Given the description of an element on the screen output the (x, y) to click on. 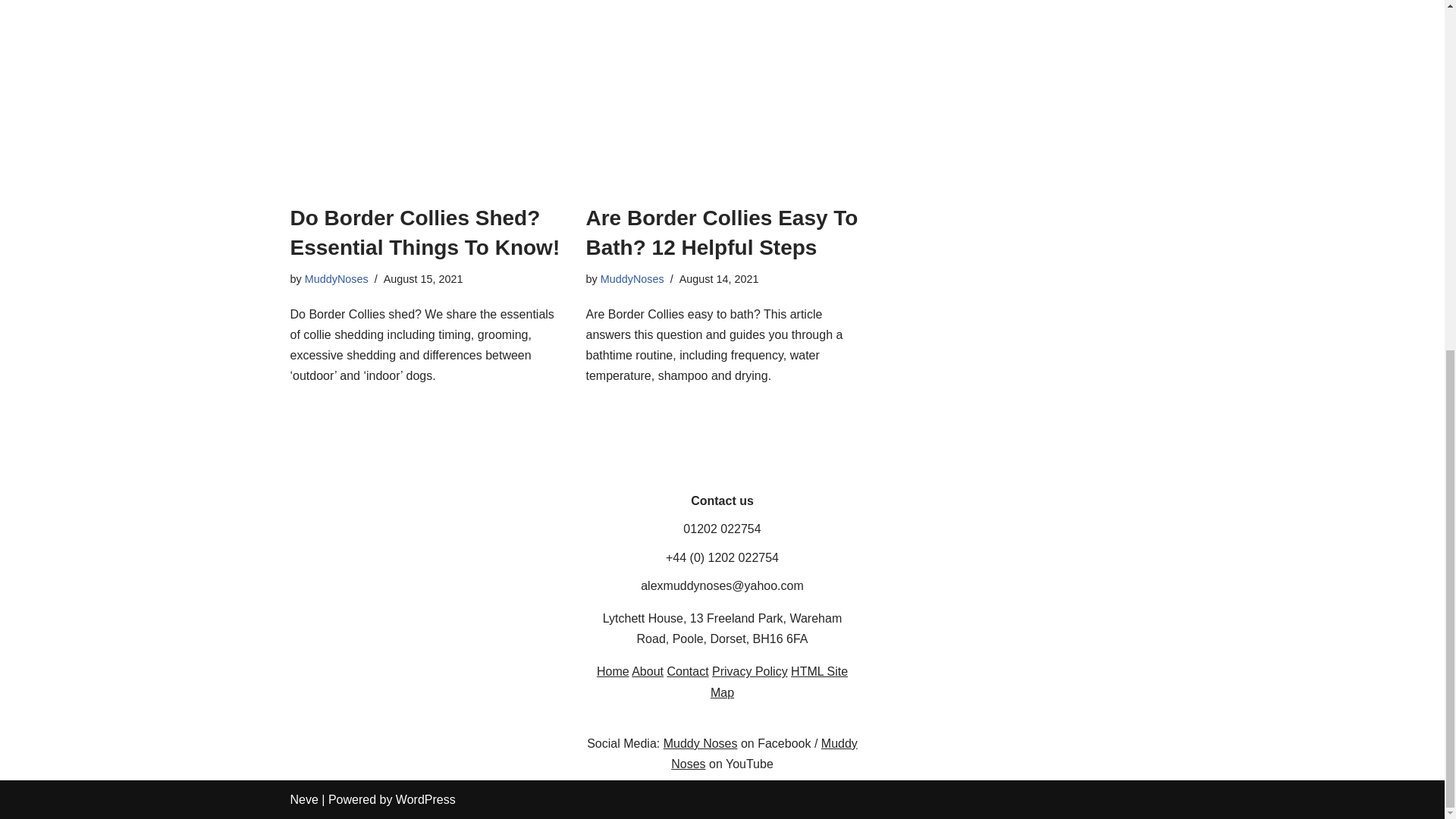
Do Border Collies Shed? Essential Things To Know! (425, 106)
Posts by MuddyNoses (336, 278)
Posts by MuddyNoses (631, 278)
Are Border Collies Easy To Bath? 12 Helpful Steps (722, 106)
